Given the description of an element on the screen output the (x, y) to click on. 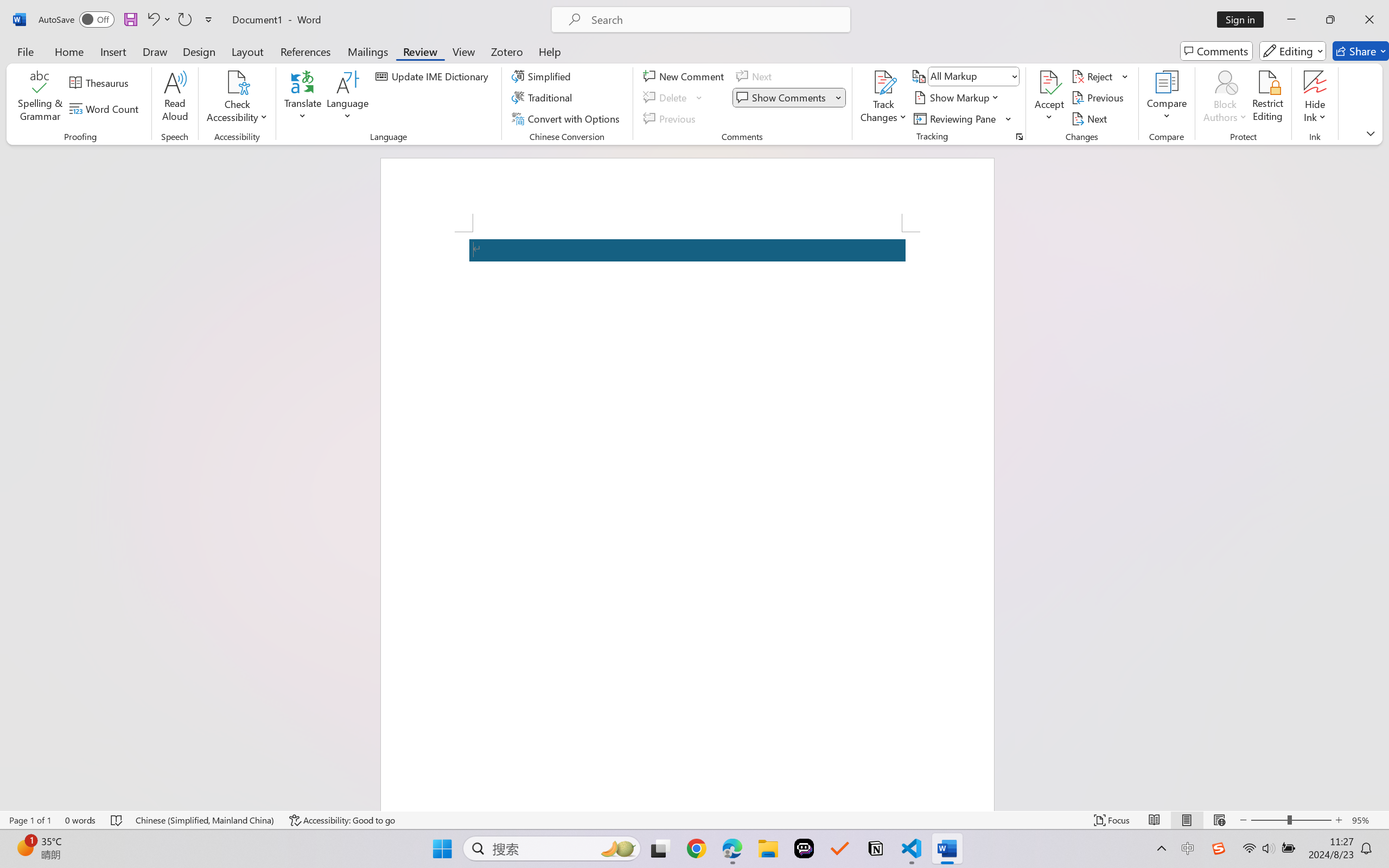
Language Chinese (Simplified, Mainland China) (205, 819)
Repeat Style (184, 19)
Check Accessibility (237, 97)
Convert with Options... (567, 118)
Check Accessibility (237, 81)
Delete (666, 97)
Read Aloud (174, 97)
